Given the description of an element on the screen output the (x, y) to click on. 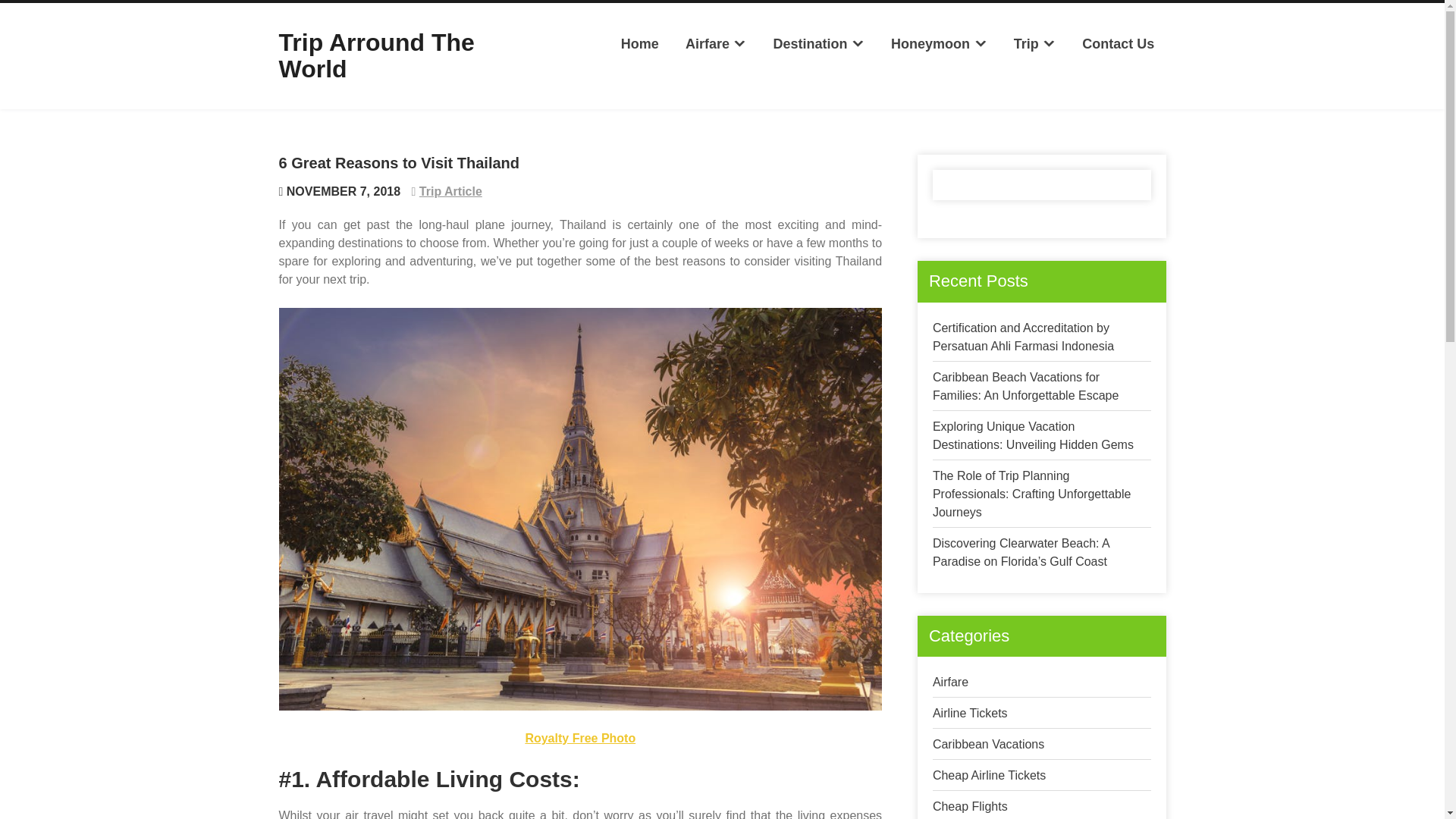
Airfare (950, 681)
Trip Arround The World (376, 55)
Airfare (716, 44)
Airline Tickets (970, 712)
Home (640, 44)
Contact Us (1118, 44)
Trip (1034, 44)
Trip Article (450, 191)
Honeymoon (938, 44)
Royalty Free Photo (579, 738)
Destination (818, 44)
